Given the description of an element on the screen output the (x, y) to click on. 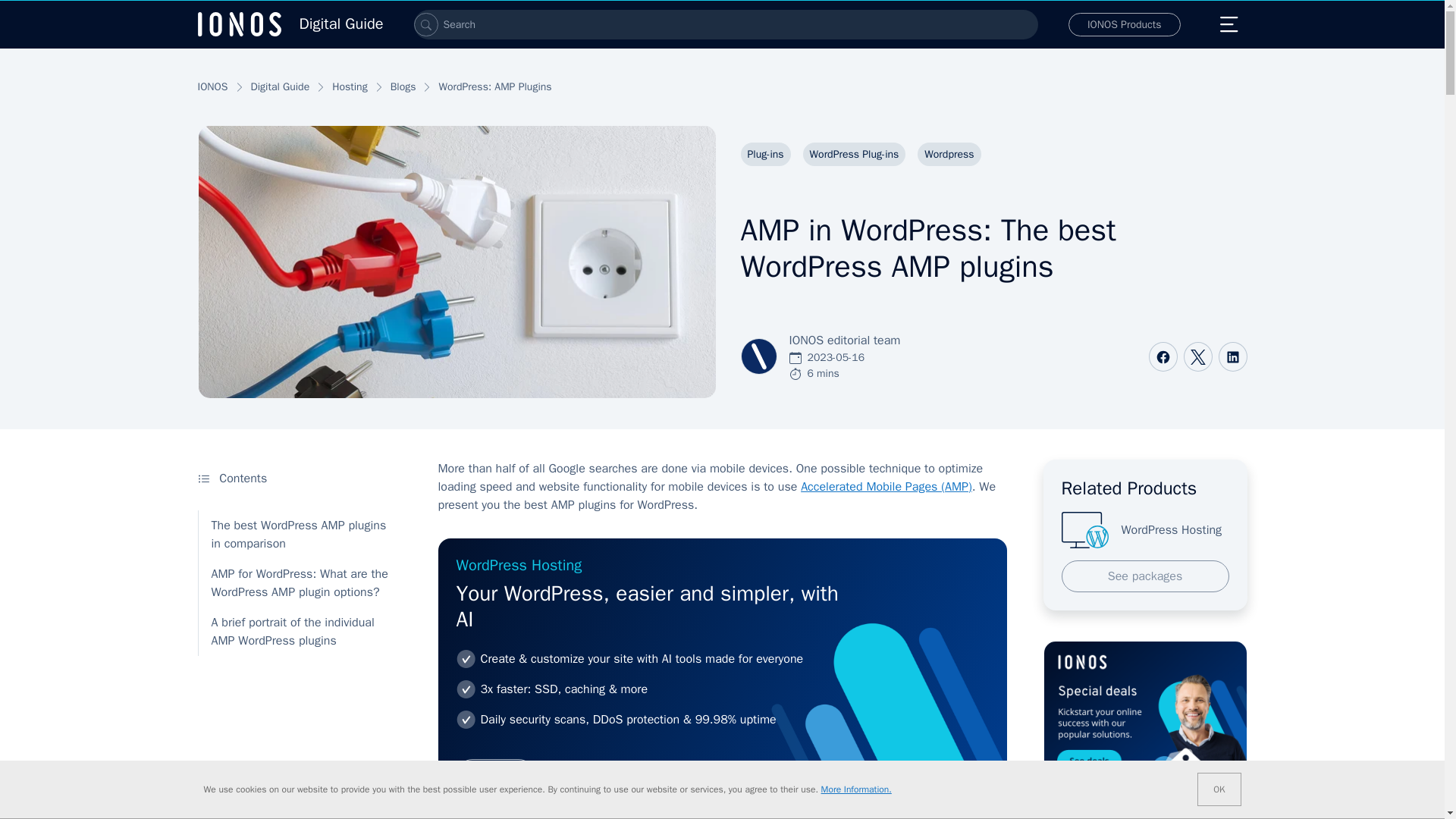
Digital Guide (289, 23)
Digital Guide (289, 23)
IONOS Products (1124, 24)
Search (425, 24)
